Given the description of an element on the screen output the (x, y) to click on. 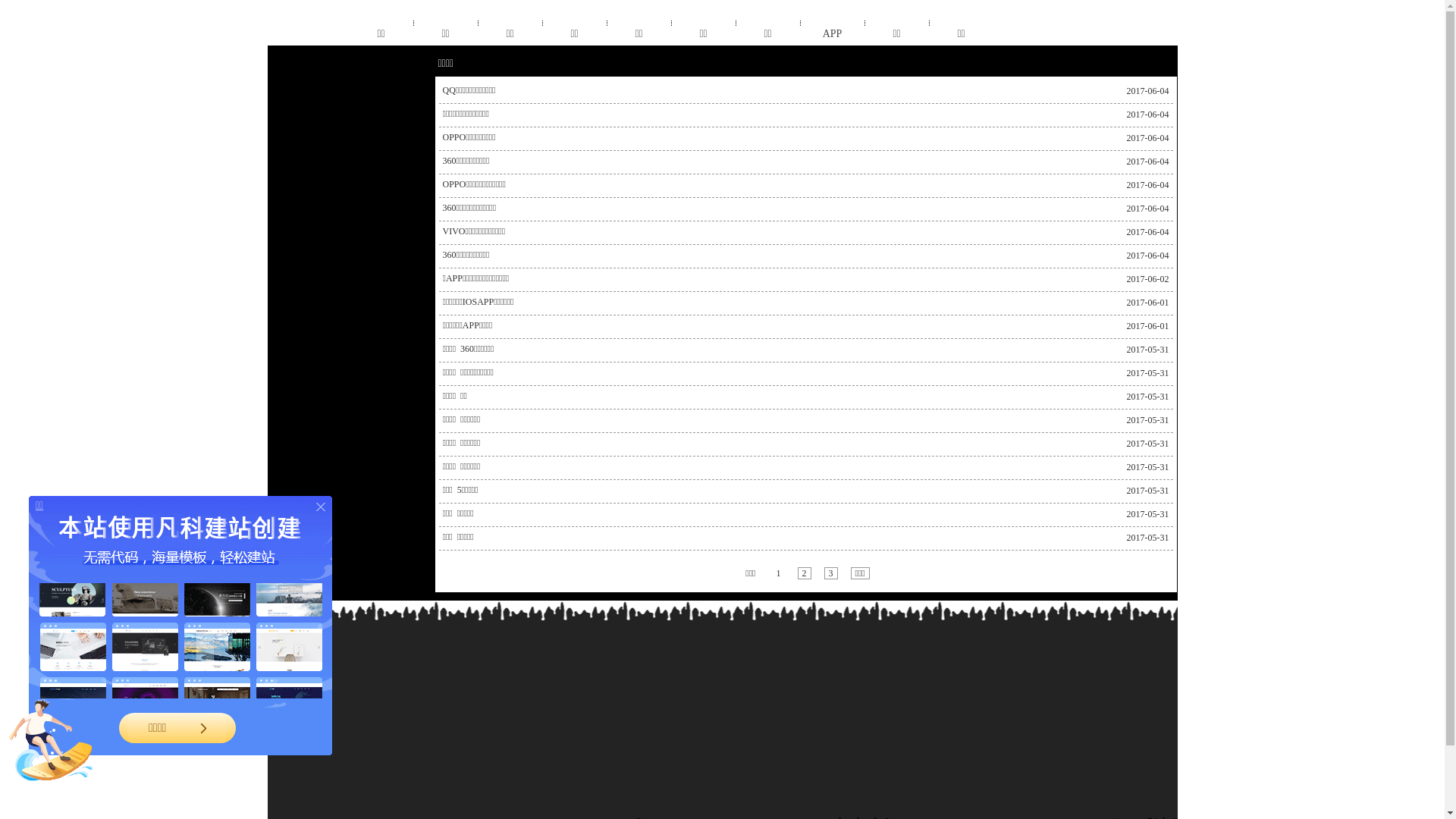
2017-05-31 Element type: text (1145, 420)
APP Element type: text (832, 34)
2017-05-31 Element type: text (1145, 349)
2017-06-02 Element type: text (1145, 279)
2017-05-31 Element type: text (1145, 537)
2017-05-31 Element type: text (1145, 396)
2017-06-04 Element type: text (1145, 255)
2017-05-31 Element type: text (1145, 467)
2 Element type: text (804, 573)
2017-06-04 Element type: text (1145, 185)
2017-05-31 Element type: text (1145, 490)
2017-05-31 Element type: text (1145, 514)
APP Element type: text (832, 33)
2017-06-01 Element type: text (1145, 326)
2017-06-04 Element type: text (1145, 138)
2017-06-04 Element type: text (1145, 208)
2017-05-31 Element type: text (1145, 443)
2017-06-04 Element type: text (1145, 161)
2017-06-04 Element type: text (1145, 114)
2017-06-04 Element type: text (1145, 91)
2017-06-04 Element type: text (1145, 232)
2017-06-01 Element type: text (1145, 302)
2017-05-31 Element type: text (1145, 373)
3 Element type: text (830, 573)
